Given the description of an element on the screen output the (x, y) to click on. 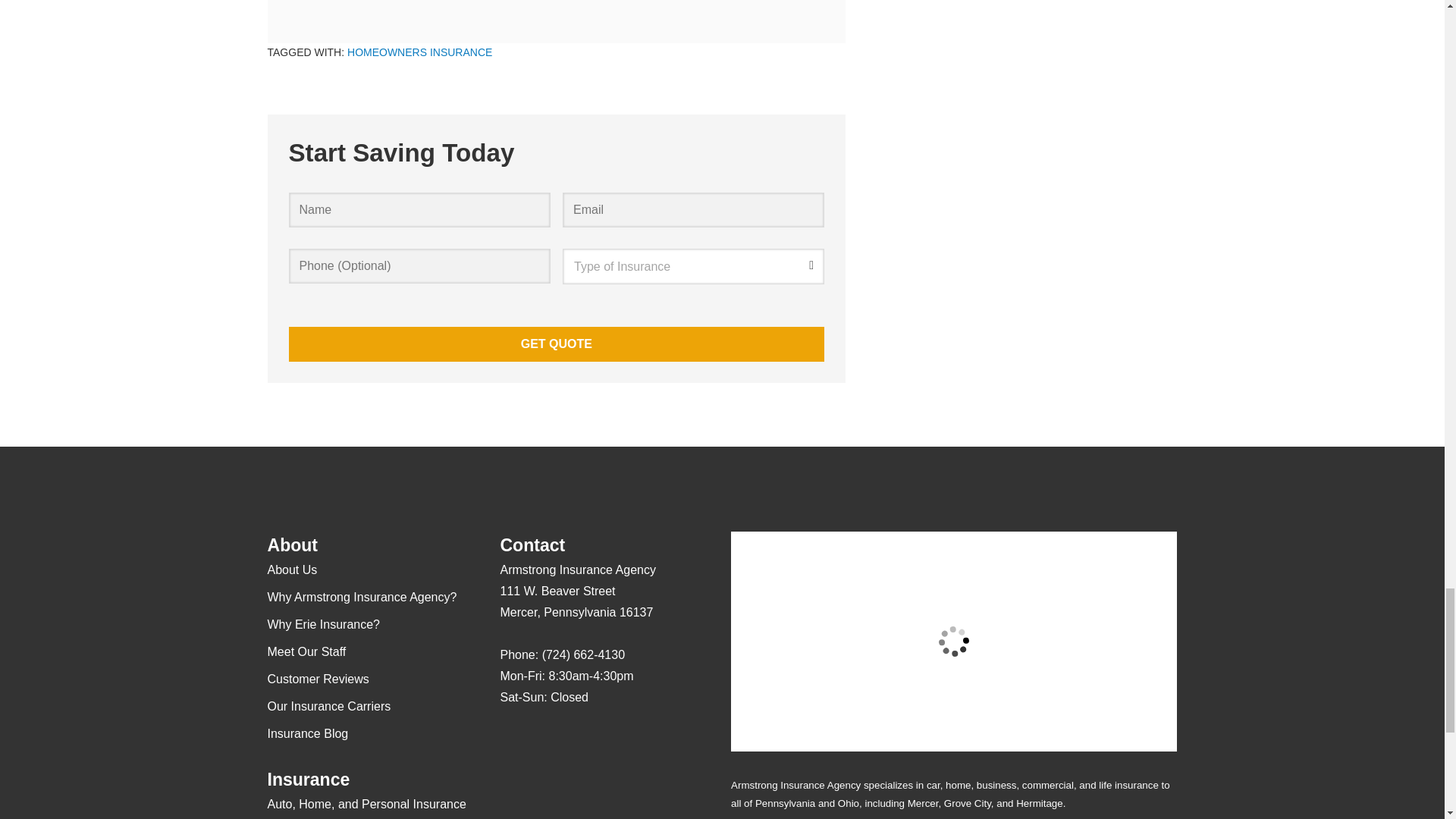
Google Maps (511, 742)
Homeowners Insurance (419, 51)
LinkedIn (600, 742)
Facebook (571, 742)
Get Quote (556, 343)
Yelp (541, 742)
Local Erie Insurance Agent (593, 797)
